Given the description of an element on the screen output the (x, y) to click on. 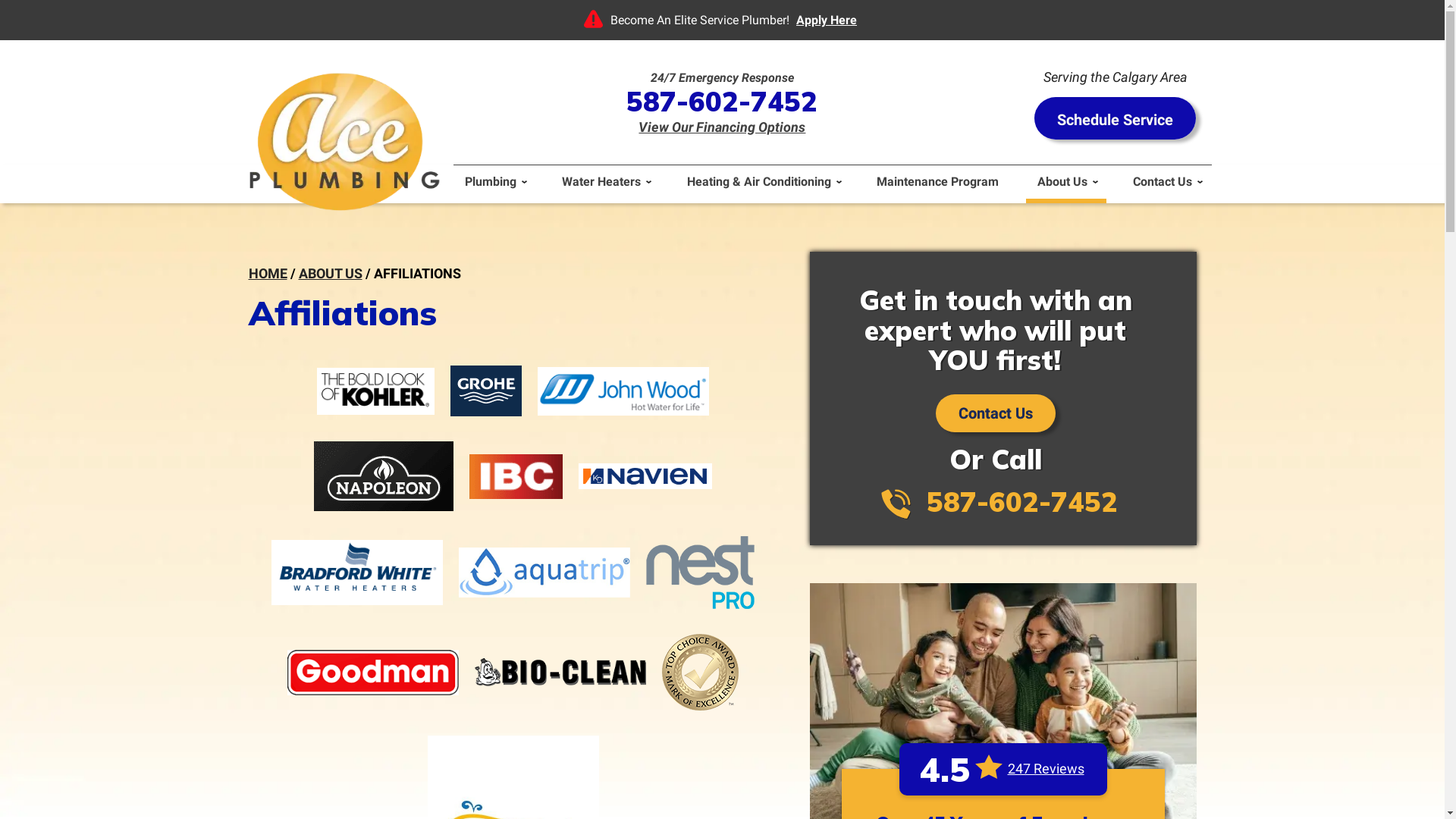
View Our Financing Options Element type: text (721, 126)
Contact Us Element type: text (1166, 184)
247 Reviews Element type: text (1045, 768)
Apply Here Element type: text (826, 19)
Contact Us Element type: text (995, 413)
ABOUT US Element type: text (330, 273)
Heating & Air Conditioning Element type: text (762, 184)
HOME Element type: text (267, 273)
587-602-7452 Element type: text (721, 101)
Maintenance Program Element type: text (937, 184)
587-602-7452 Element type: text (1021, 501)
Water Heaters Element type: text (604, 184)
Schedule Service Element type: text (1114, 118)
Plumbing Element type: text (494, 184)
About Us Element type: text (1066, 184)
